Given the description of an element on the screen output the (x, y) to click on. 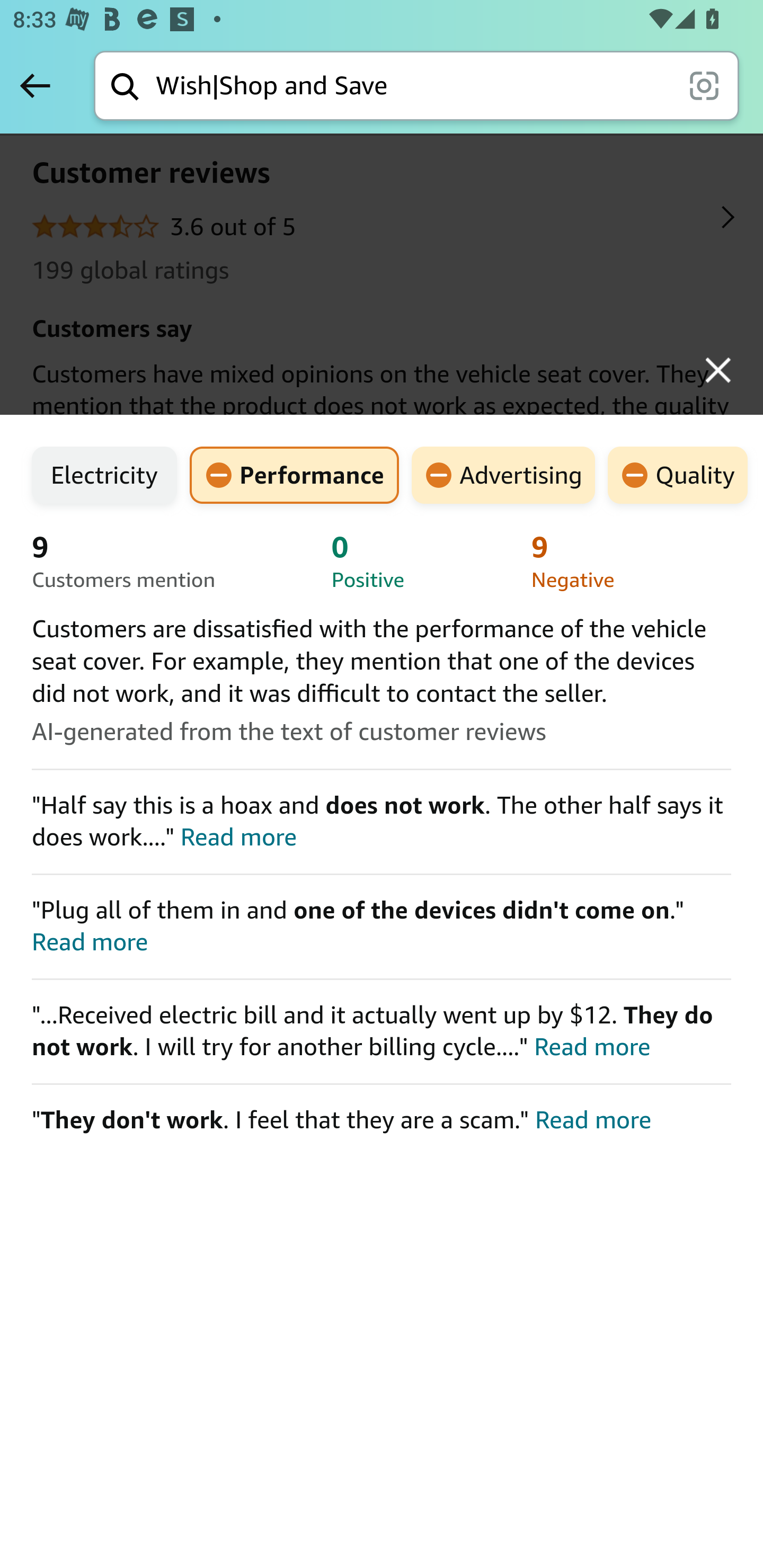
Back (35, 85)
Search Search Wish|Shop and Save scan it (416, 85)
scan it (704, 85)
close (717, 369)
Electricity (104, 474)
Performance (294, 474)
Advertising (503, 474)
Quality (677, 474)
Read more (238, 836)
Read more (90, 941)
Read more (592, 1046)
Read more (592, 1119)
